Given the description of an element on the screen output the (x, y) to click on. 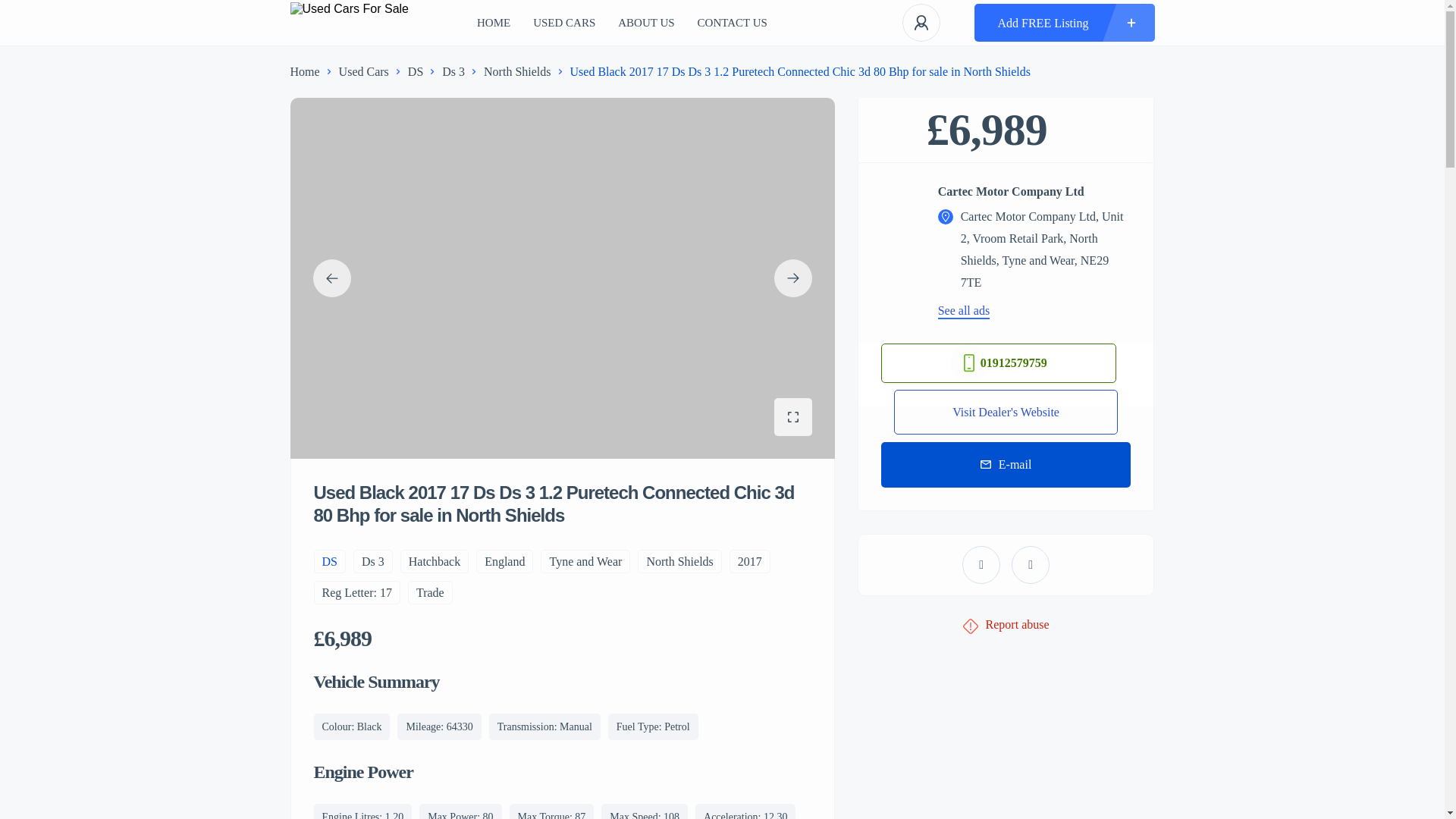
Add FREE Listing (1064, 22)
Used Cars (363, 71)
Contact us (698, 22)
ABOUT US (613, 22)
See all ads (963, 310)
Home (303, 71)
About us (613, 22)
Cartec Motor Company Ltd (1034, 191)
E-mail (1005, 464)
Used Cars For Sale (332, 22)
